Given the description of an element on the screen output the (x, y) to click on. 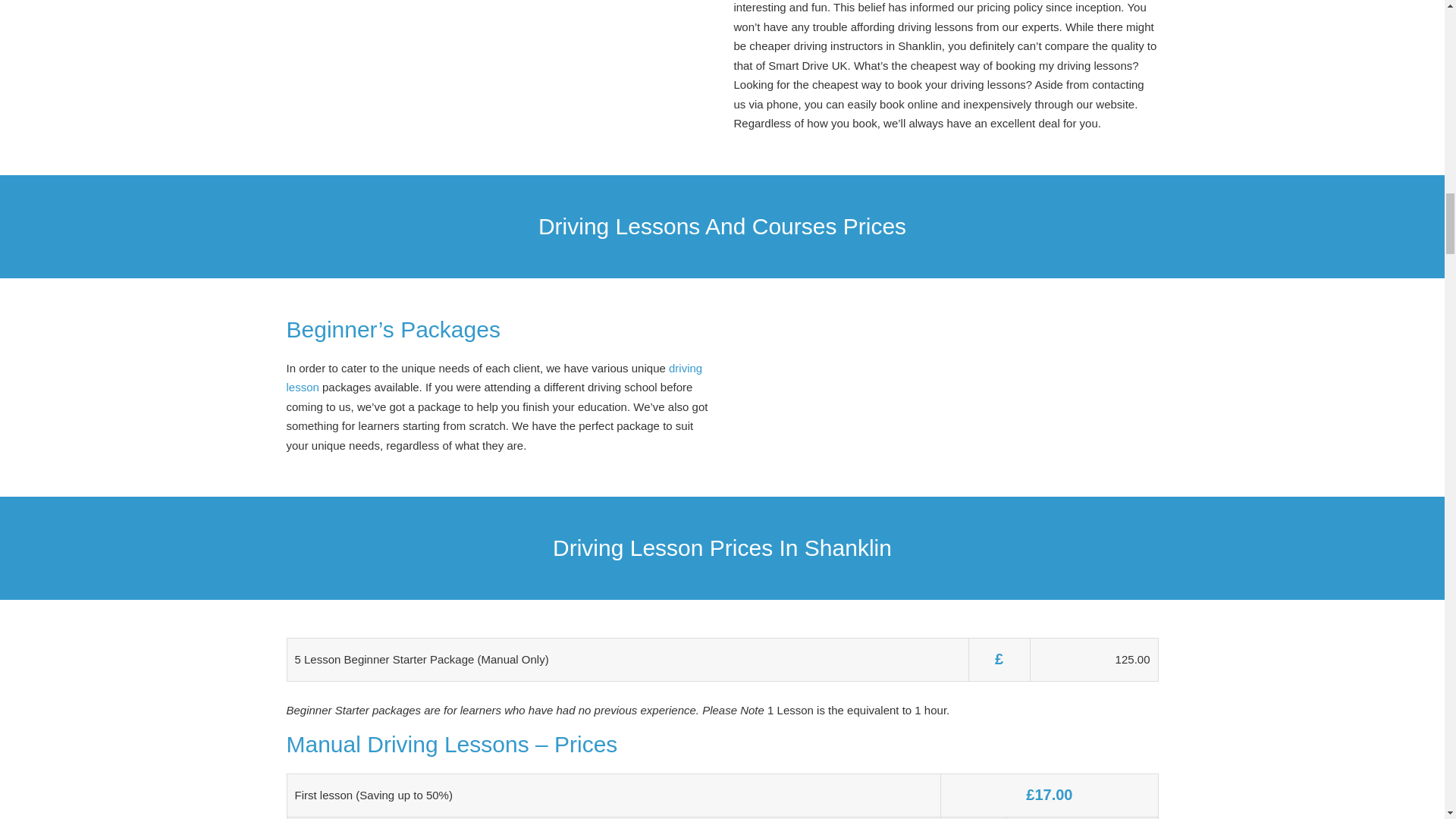
driving lesson (494, 377)
